Given the description of an element on the screen output the (x, y) to click on. 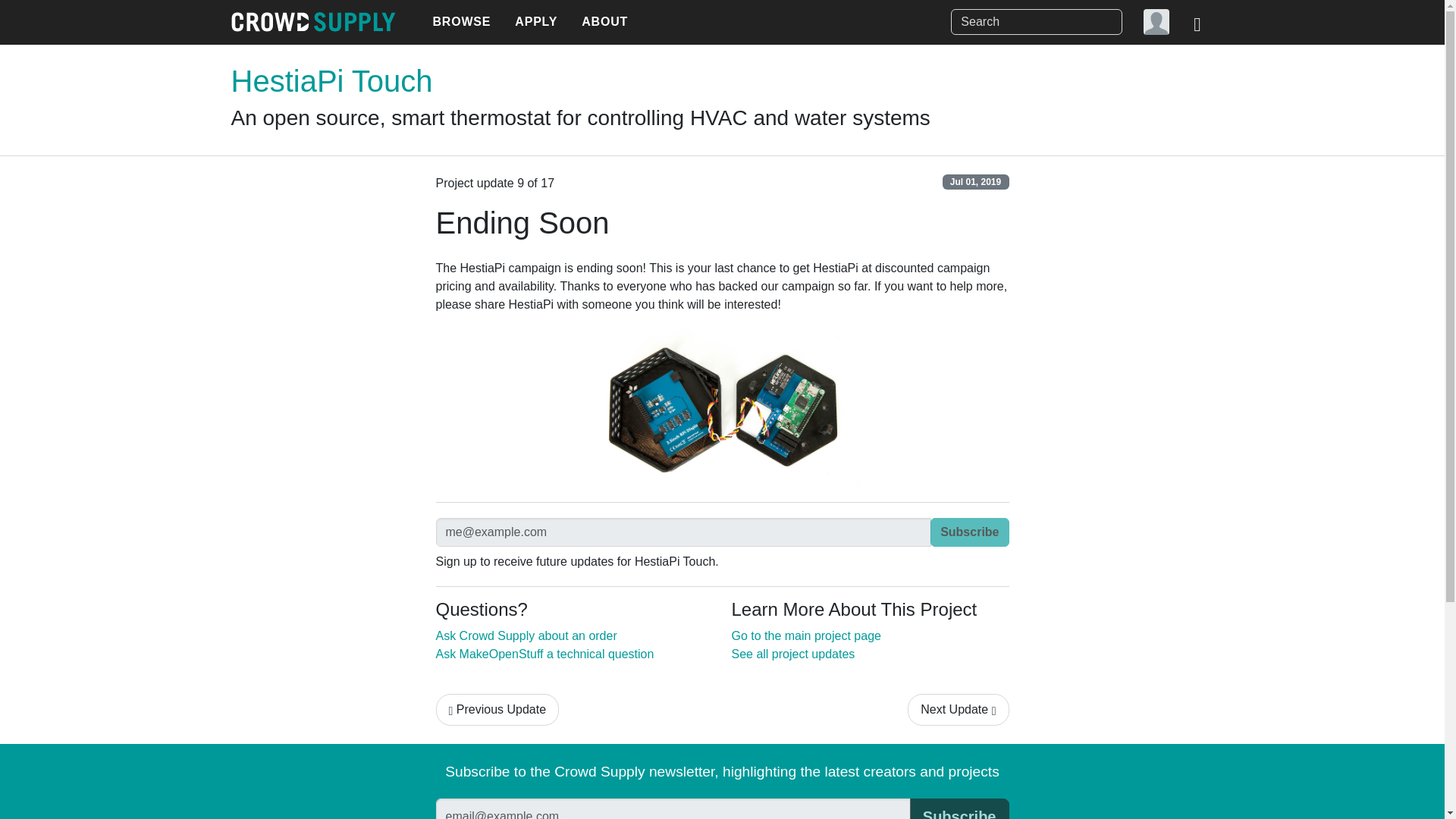
BROWSE (461, 21)
Next Update (958, 709)
Crowd Supply (312, 22)
Subscribe (959, 808)
See all project updates (792, 653)
Previous Update (497, 709)
Ask MakeOpenStuff a technical question (544, 653)
Ask Crowd Supply about an order (525, 635)
ABOUT (604, 21)
Go to the main project page (805, 635)
Subscribe (969, 532)
APPLY (535, 21)
HestiaPi Touch (331, 80)
